Given the description of an element on the screen output the (x, y) to click on. 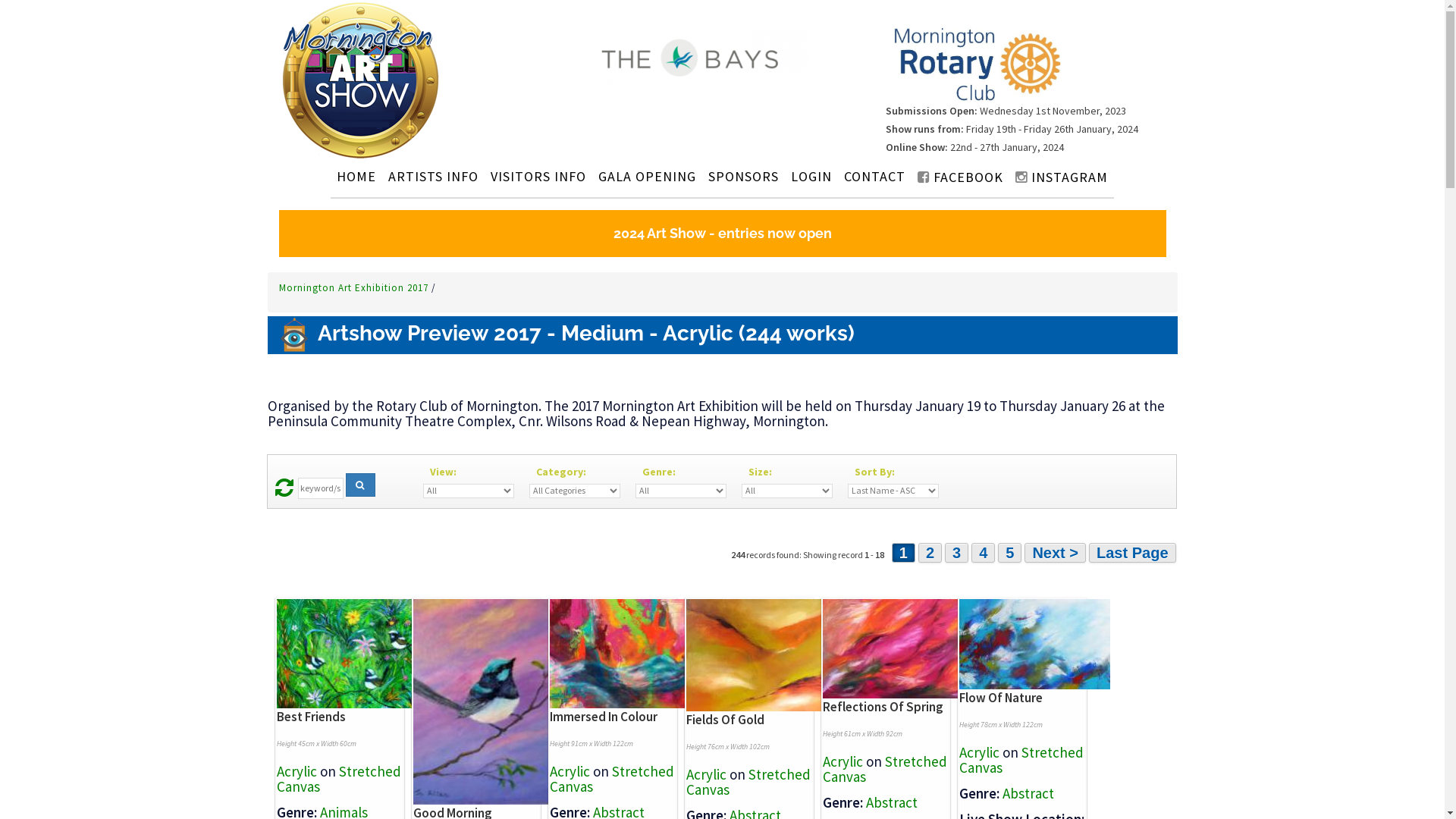
Mornington Art Exhibition 2017 Element type: text (355, 287)
Acrylic Element type: text (978, 752)
SPONSORS Element type: text (743, 176)
CONTACT Element type: text (874, 176)
Next > Element type: text (1054, 552)
Stretched Canvas Element type: text (884, 768)
Acrylic Element type: text (296, 771)
Best Friends Element type: text (310, 716)
Immersed In Colour Element type: text (602, 716)
Reflections Of Spring Element type: text (882, 706)
5 Element type: text (1009, 552)
LOGIN Element type: text (811, 176)
Stretched Canvas Element type: text (338, 778)
Flow Of Nature Element type: text (999, 697)
Stretched Canvas Element type: text (611, 778)
2024 Art Show - entries now open Element type: text (722, 233)
Stretched Canvas Element type: text (1020, 759)
Acrylic Element type: text (705, 774)
Fields Of Gold Element type: text (724, 719)
Abstract Element type: text (891, 802)
INSTAGRAM Element type: text (1061, 177)
HOME Element type: text (355, 176)
Acrylic Element type: text (842, 761)
3 Element type: text (956, 552)
VISITORS INFO Element type: text (537, 176)
Last Page Element type: text (1131, 552)
GALA OPENING Element type: text (646, 176)
4 Element type: text (982, 552)
Acrylic Element type: text (569, 771)
Abstract Element type: text (1028, 793)
2 Element type: text (929, 552)
FACEBOOK Element type: text (960, 177)
Stretched Canvas Element type: text (747, 781)
ARTISTS INFO Element type: text (433, 176)
Reset Search Criteria Element type: hover (283, 491)
